Given the description of an element on the screen output the (x, y) to click on. 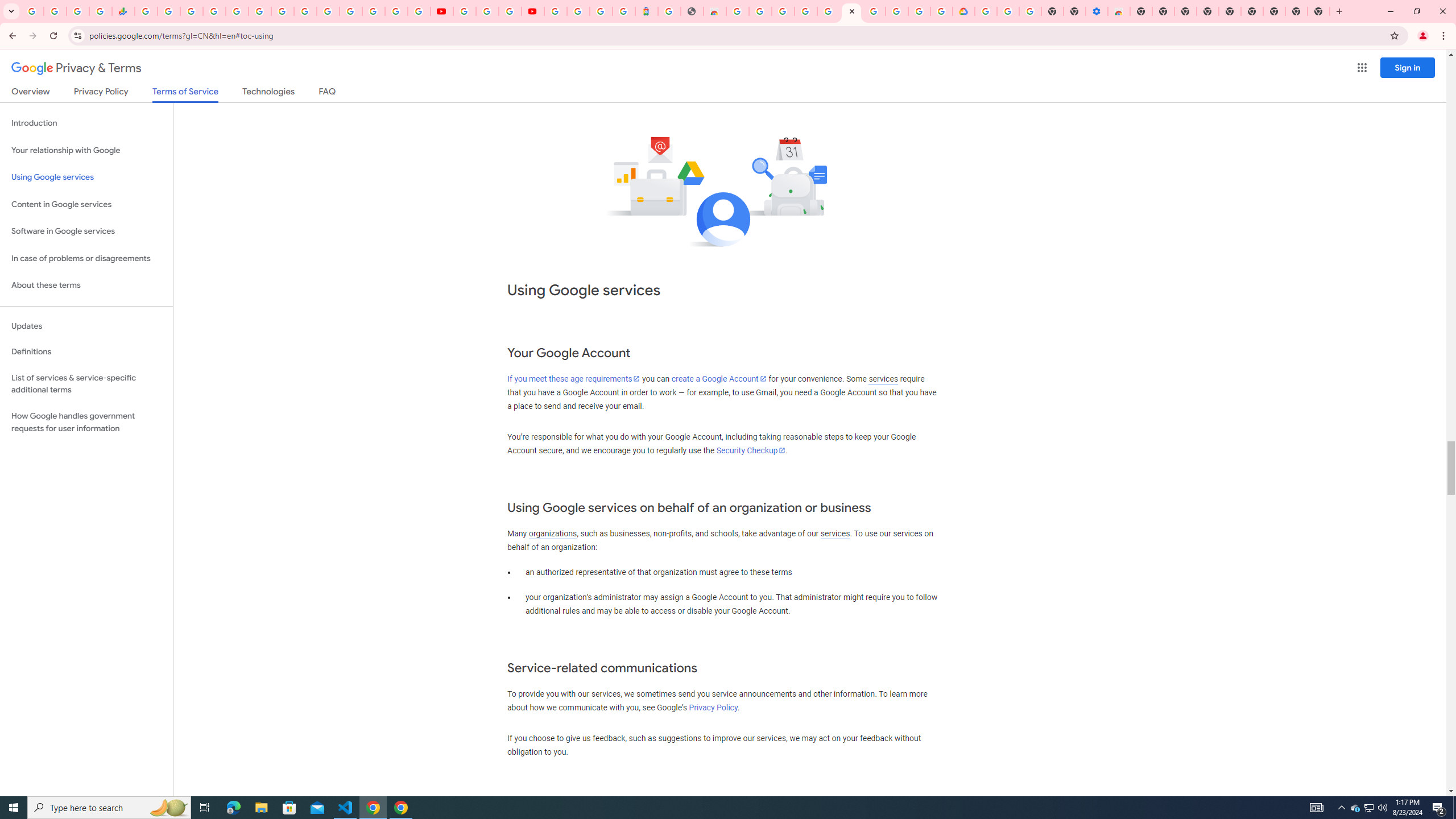
Using Google services (86, 176)
Sign in - Google Accounts (555, 11)
Privacy Checkup (419, 11)
Google Account Help (486, 11)
Create your Google Account (510, 11)
Create your Google Account (919, 11)
Atour Hotel - Google hotels (646, 11)
Chrome Web Store - Accessibility extensions (1118, 11)
